Given the description of an element on the screen output the (x, y) to click on. 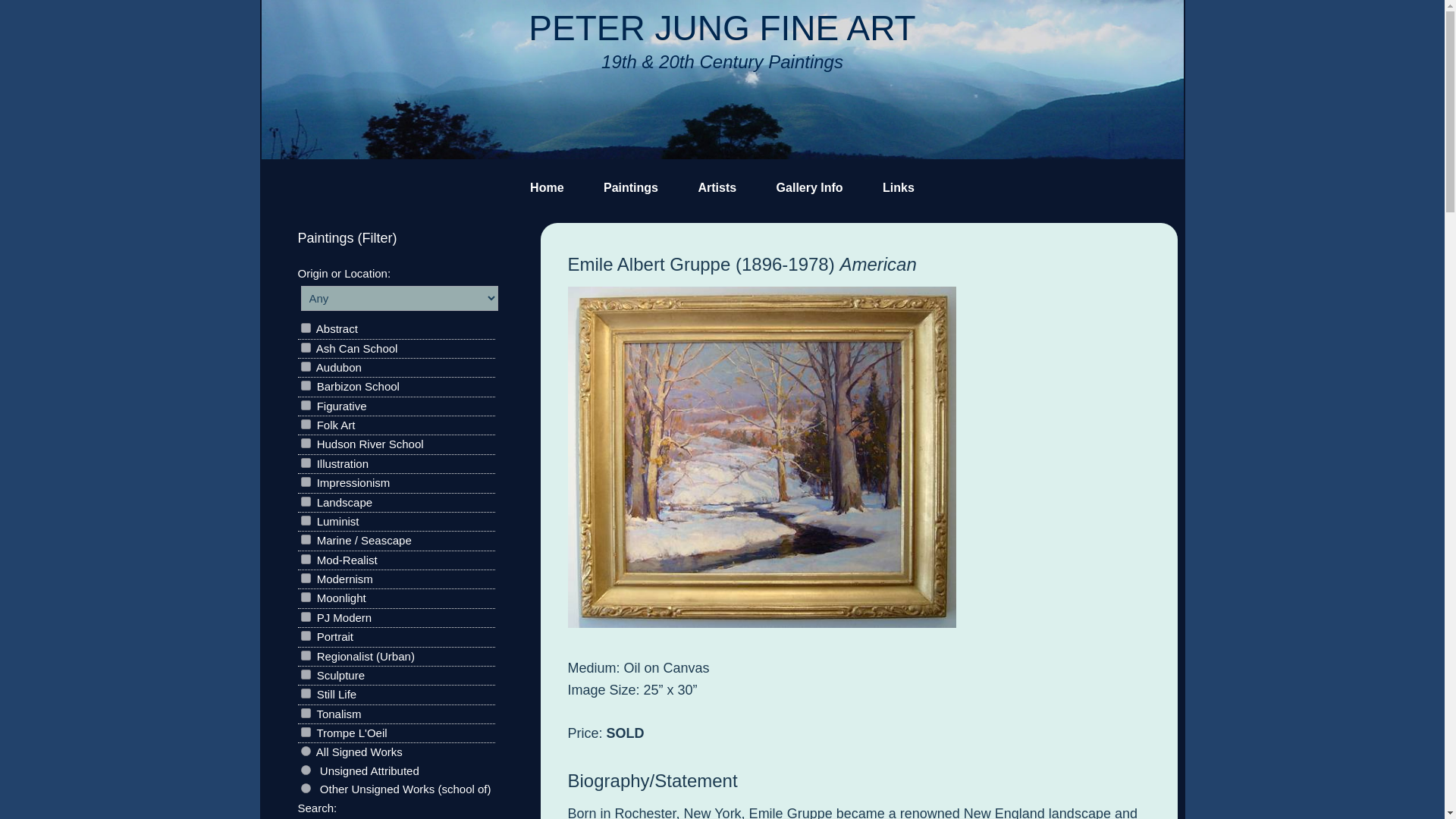
sculpture (304, 674)
hudson-river-school (304, 442)
audubon (304, 366)
folk-art (304, 424)
regionalist (304, 655)
portrait (304, 635)
figurative (304, 405)
Paintings (631, 187)
landscape (304, 501)
illustration (304, 462)
